Given the description of an element on the screen output the (x, y) to click on. 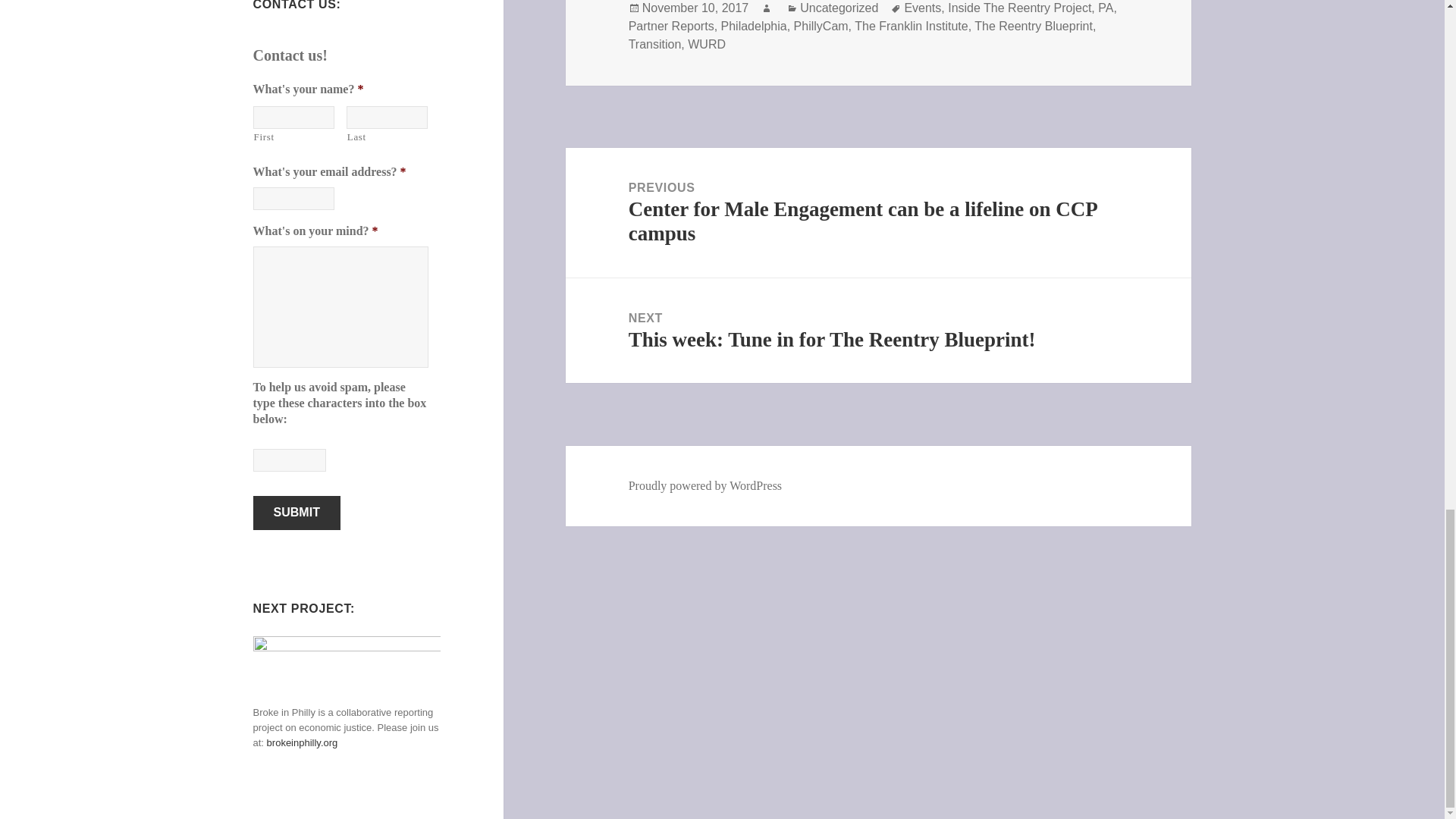
Inside The Reentry Project (1018, 8)
PA (1105, 8)
The Franklin Institute (911, 26)
Events (922, 8)
Philadelphia (753, 26)
Partner Reports (671, 26)
Submit (296, 512)
brokeinphilly.org (301, 742)
November 10, 2017 (695, 8)
Submit (296, 512)
